Given the description of an element on the screen output the (x, y) to click on. 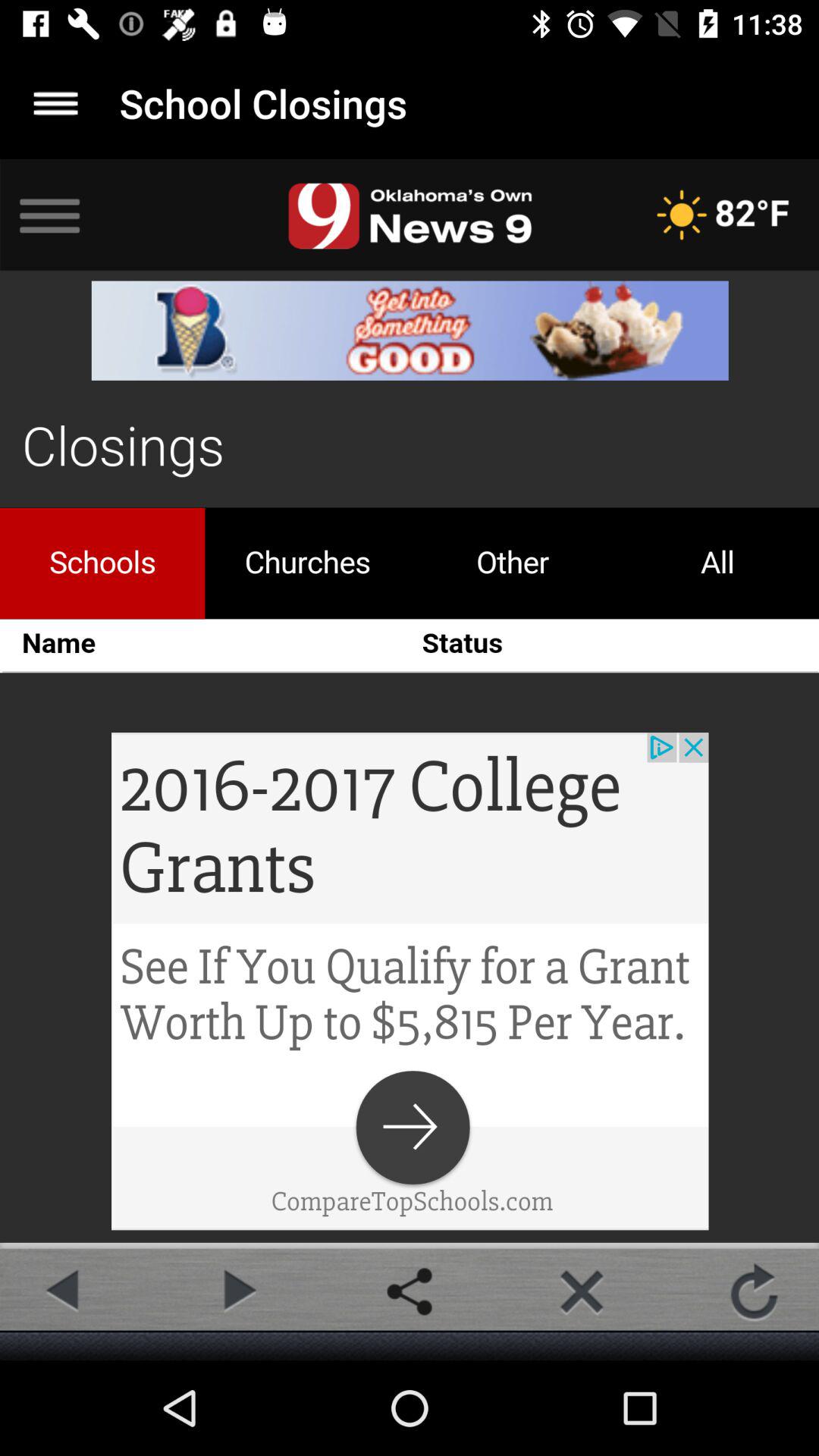
view menu (55, 103)
